Given the description of an element on the screen output the (x, y) to click on. 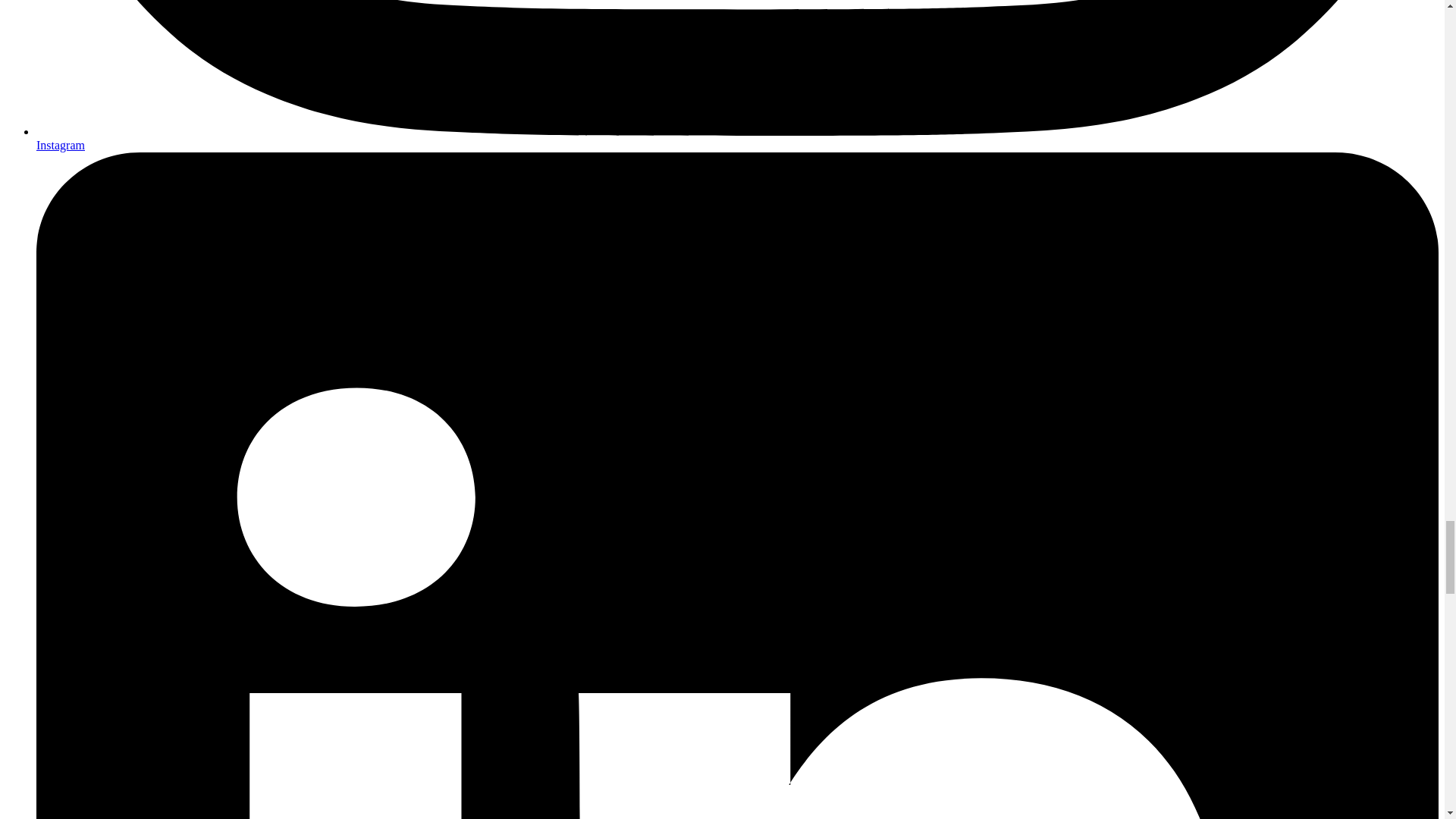
Instagram (60, 144)
